Given the description of an element on the screen output the (x, y) to click on. 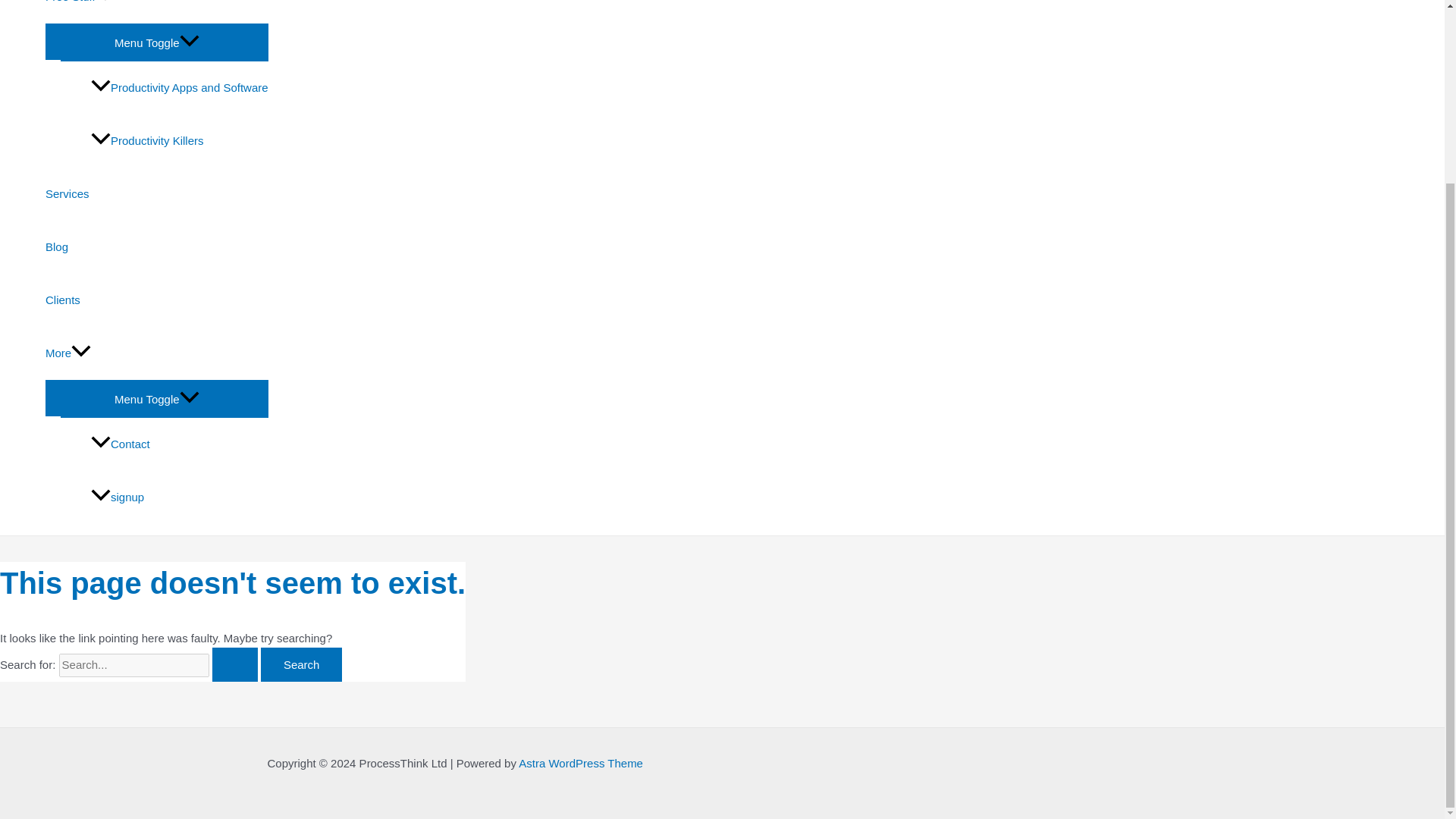
Contact (178, 443)
Productivity Killers (178, 140)
Astra WordPress Theme (580, 762)
Search (301, 664)
signup (178, 497)
Productivity Apps and Software (178, 87)
Menu Toggle (156, 41)
Services (156, 193)
Clients (156, 299)
Search (301, 664)
